Given the description of an element on the screen output the (x, y) to click on. 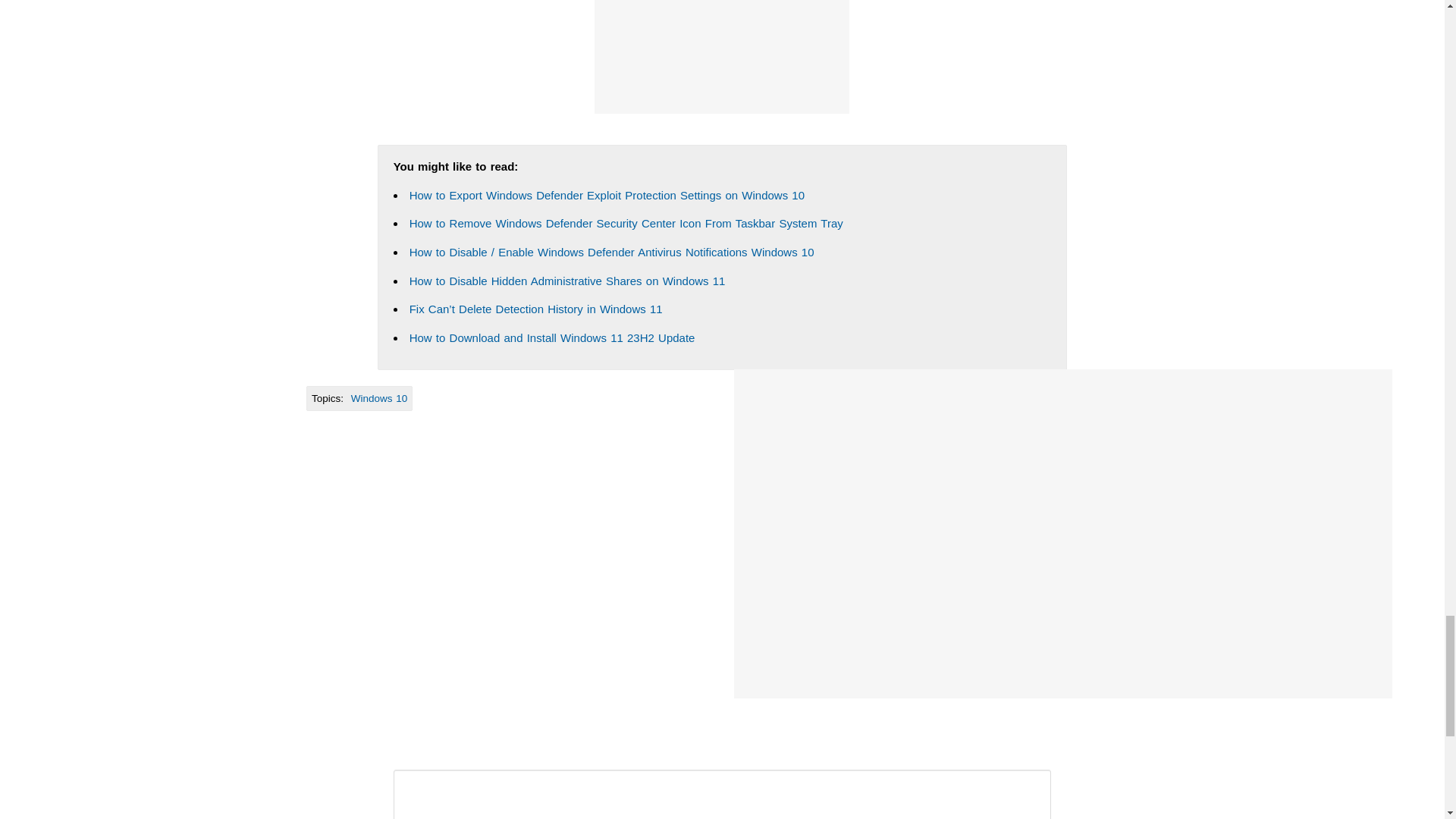
How to Download and Install Windows 11 23H2 Update (552, 337)
How to Disable Hidden Administrative Shares on Windows 11 (567, 280)
Windows 10 (378, 398)
